Given the description of an element on the screen output the (x, y) to click on. 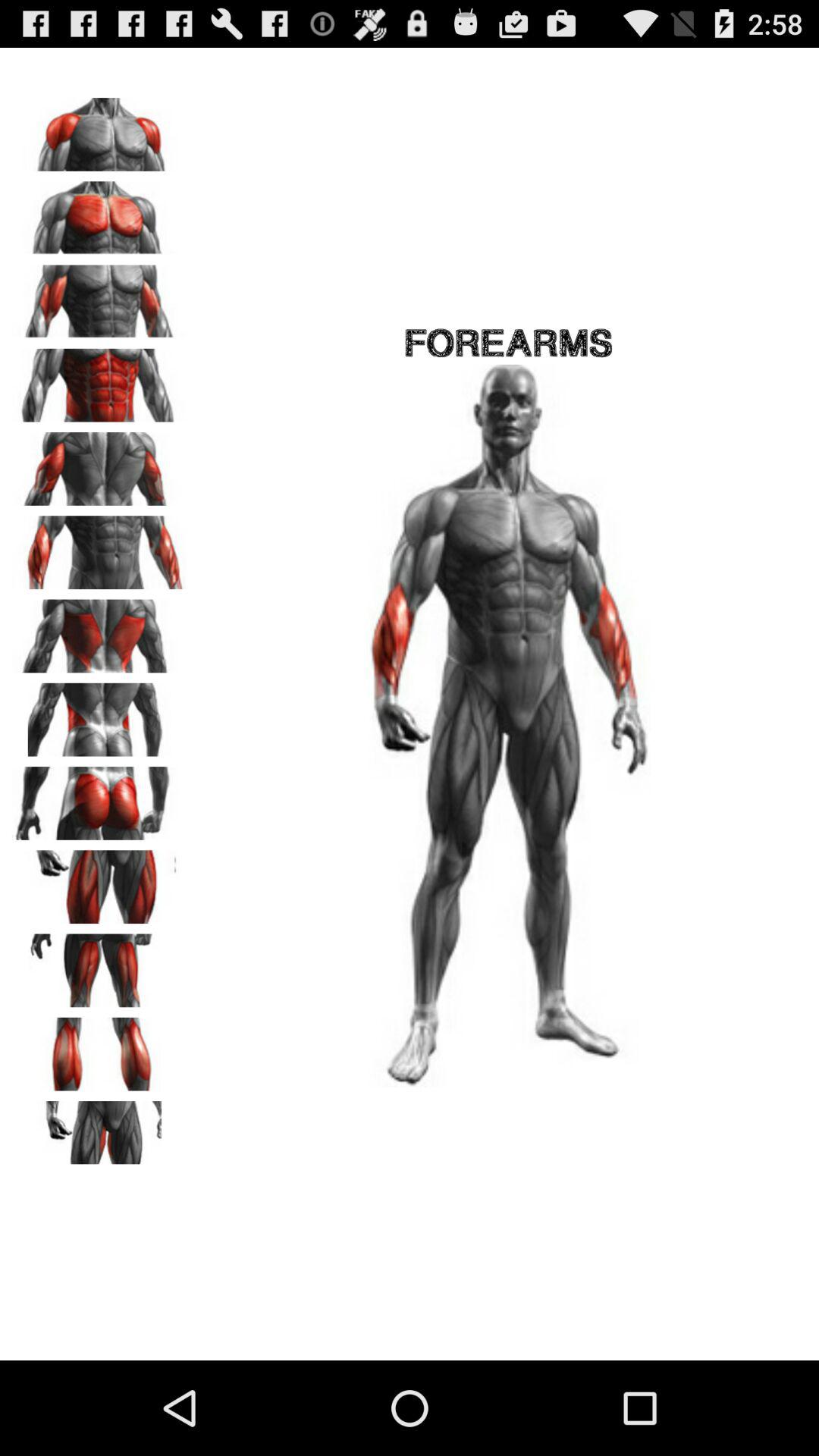
because back devicer (99, 547)
